Given the description of an element on the screen output the (x, y) to click on. 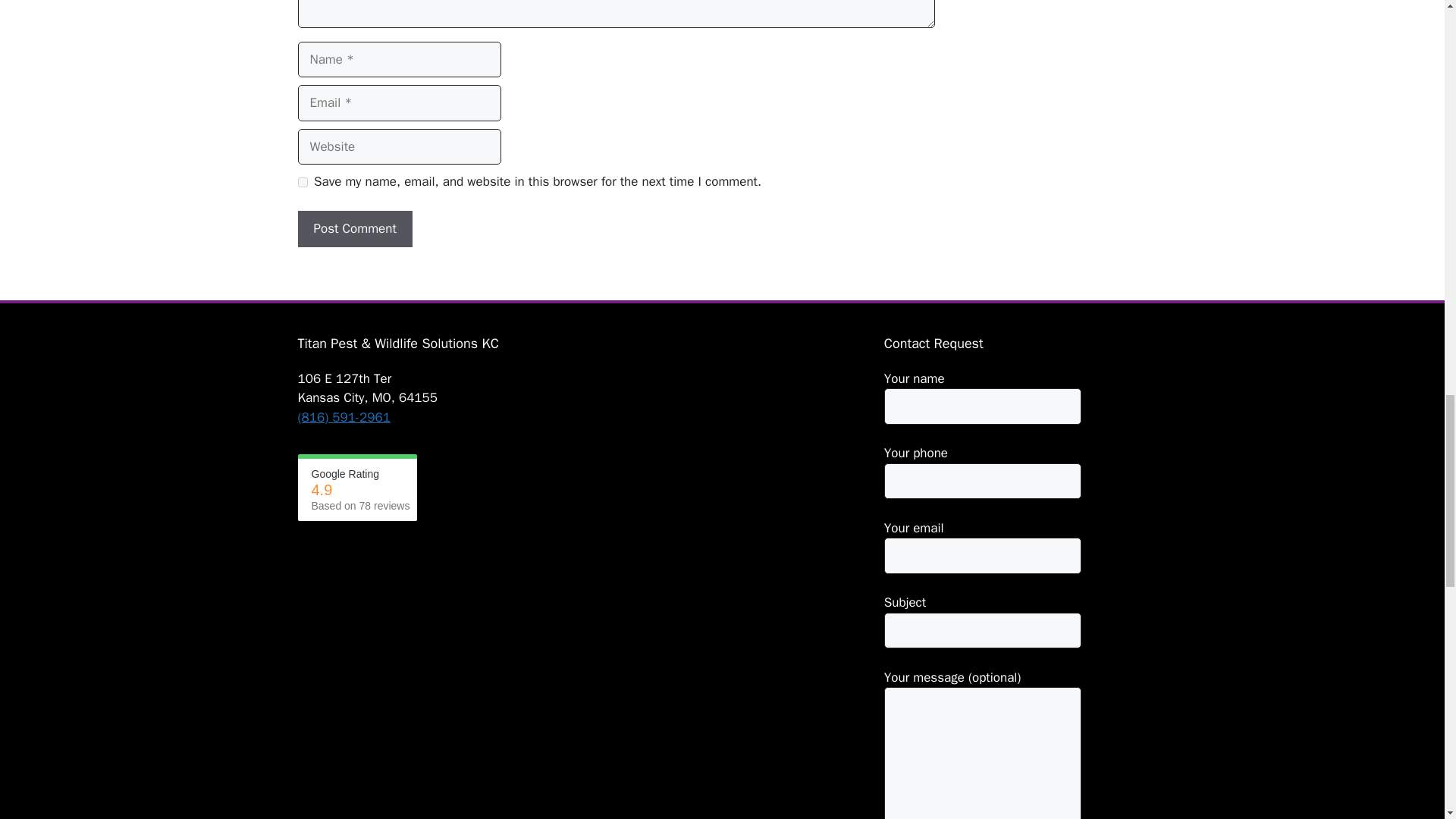
Post Comment (354, 228)
yes (302, 182)
